Given the description of an element on the screen output the (x, y) to click on. 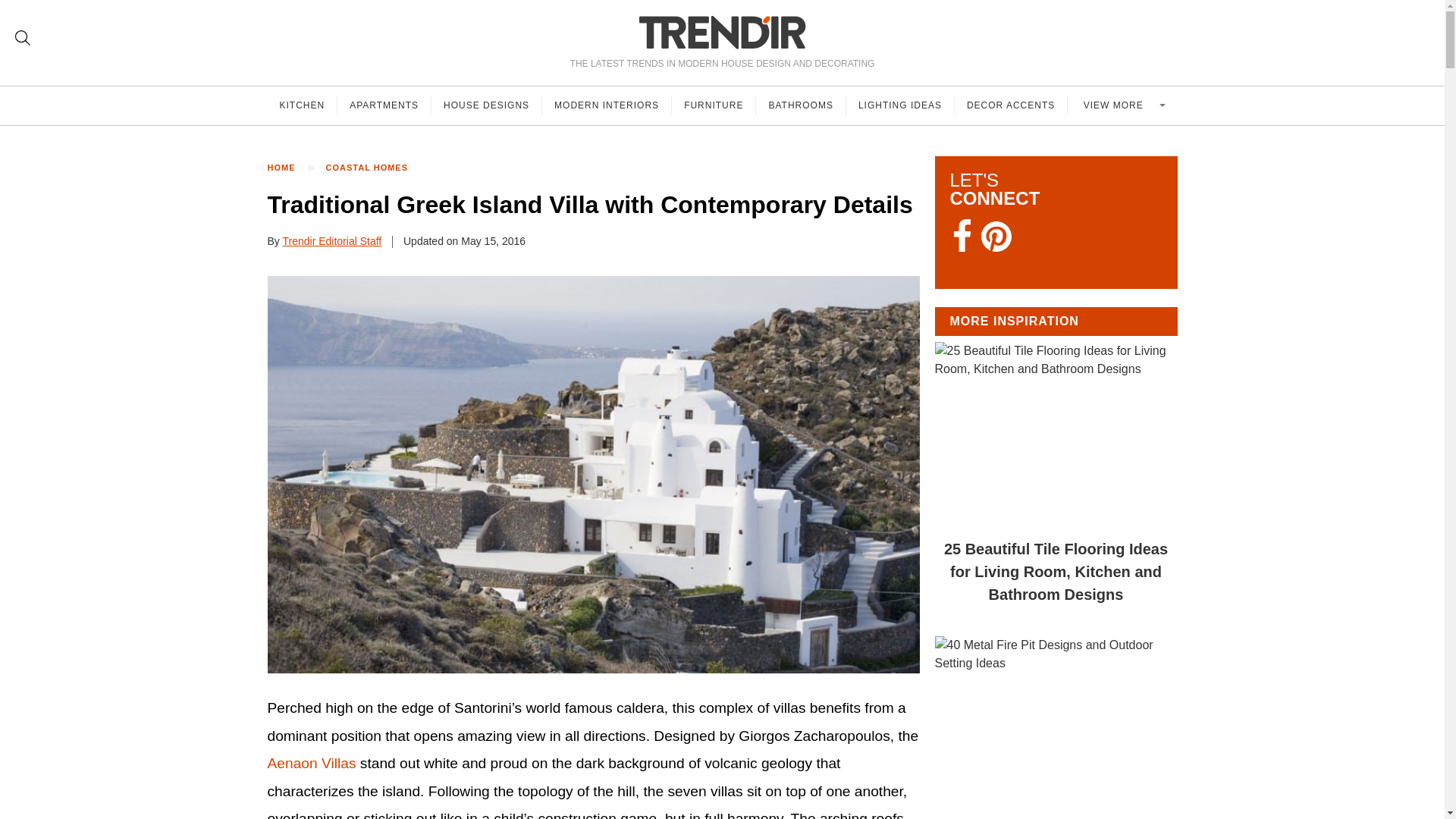
COASTAL HOMES (374, 167)
LIGHTING IDEAS (900, 105)
APARTMENTS (383, 105)
HOUSE DESIGNS (485, 105)
Aenaon Villas (310, 763)
DECOR ACCENTS (1011, 105)
Coastal Homes (374, 167)
Trendir Home (722, 32)
TRENDIR (722, 32)
Trendir Editorial Staff (331, 241)
